Given the description of an element on the screen output the (x, y) to click on. 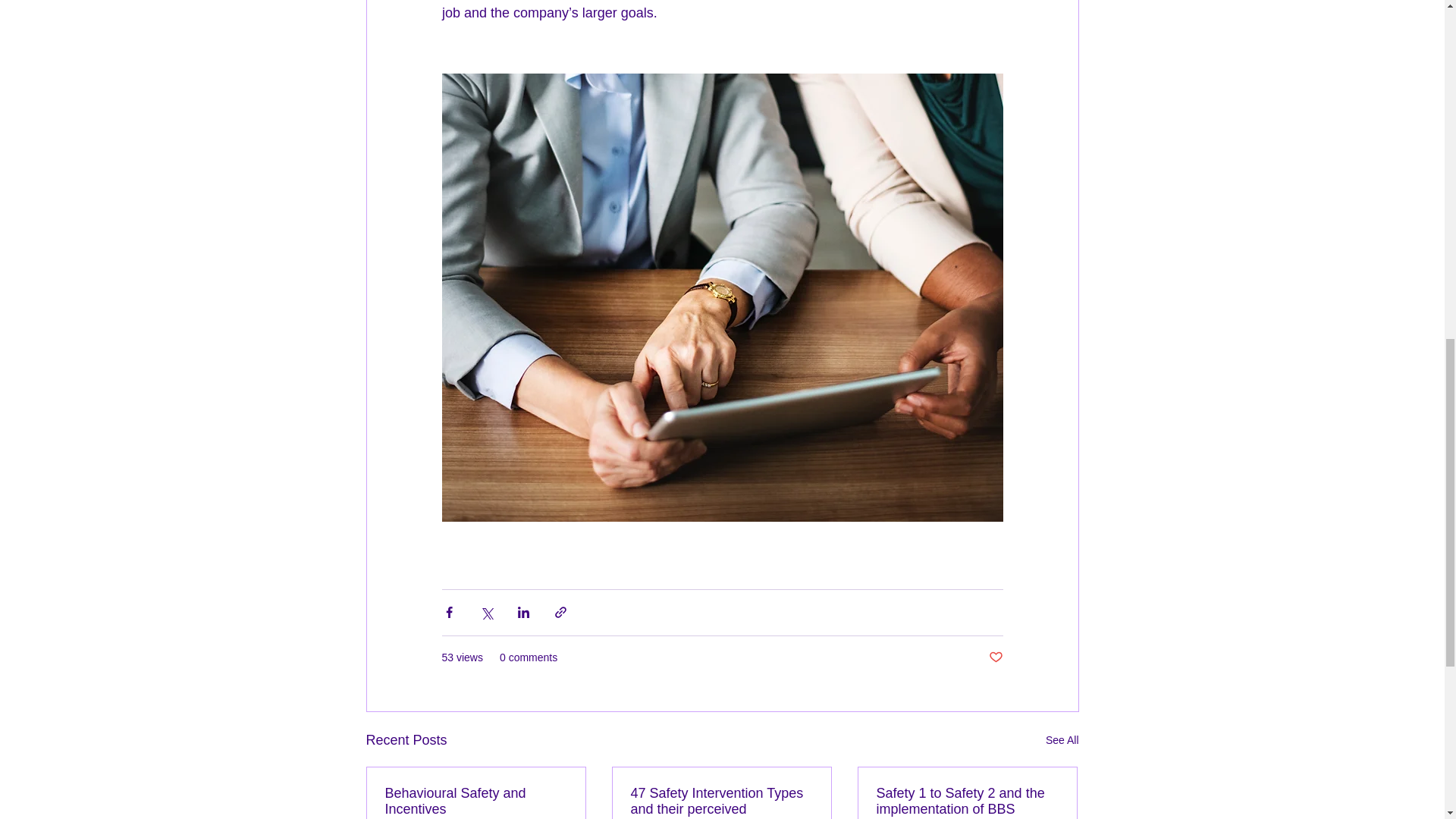
Post not marked as liked (995, 657)
See All (1061, 740)
Safety 1 to Safety 2 and the implementation of BBS (967, 801)
Behavioural Safety and Incentives (476, 801)
